Given the description of an element on the screen output the (x, y) to click on. 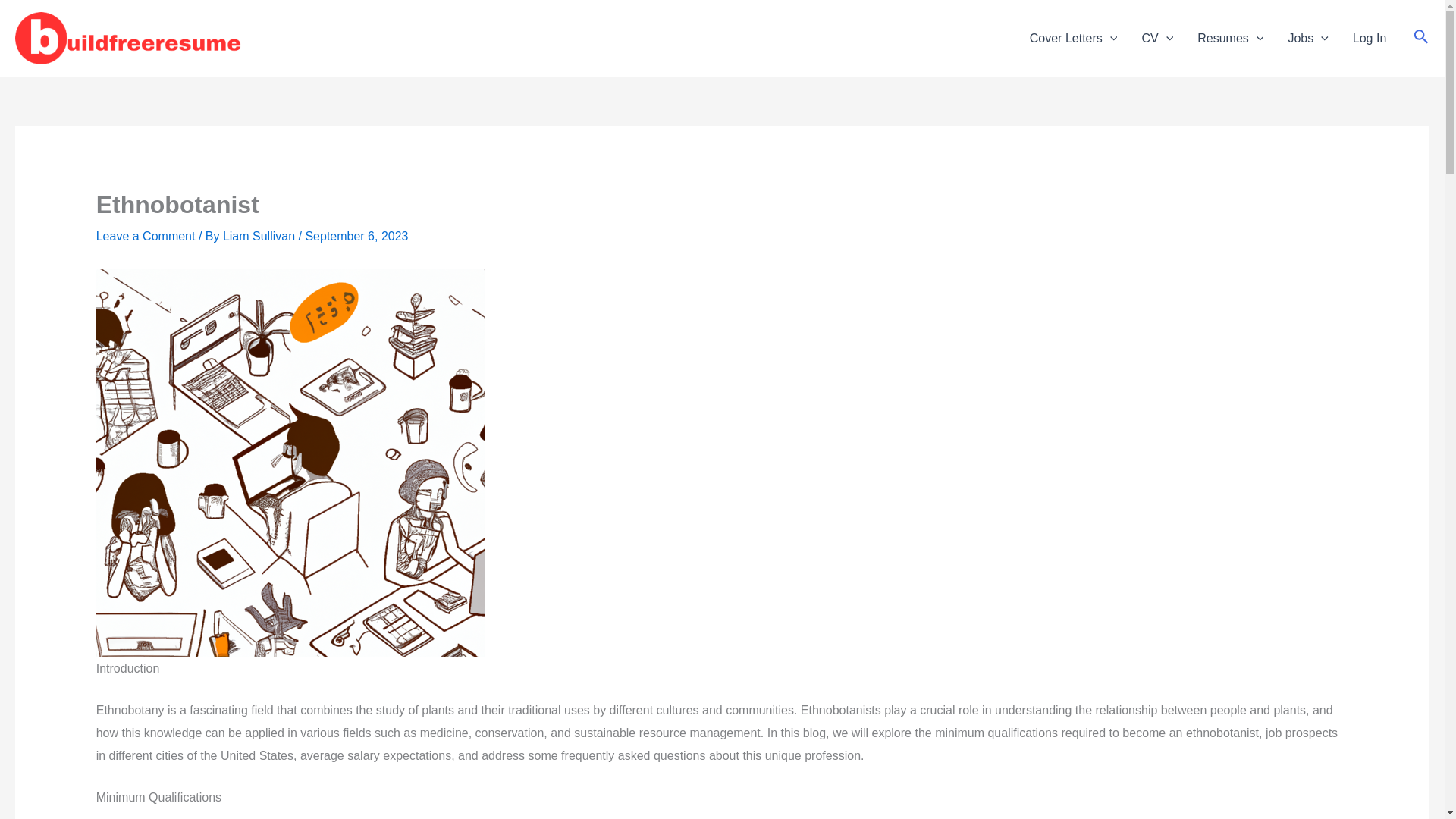
View all posts by Liam Sullivan (258, 236)
Resumes (1230, 37)
Cover Letters (1073, 37)
CV (1157, 37)
Jobs (1307, 37)
